Given the description of an element on the screen output the (x, y) to click on. 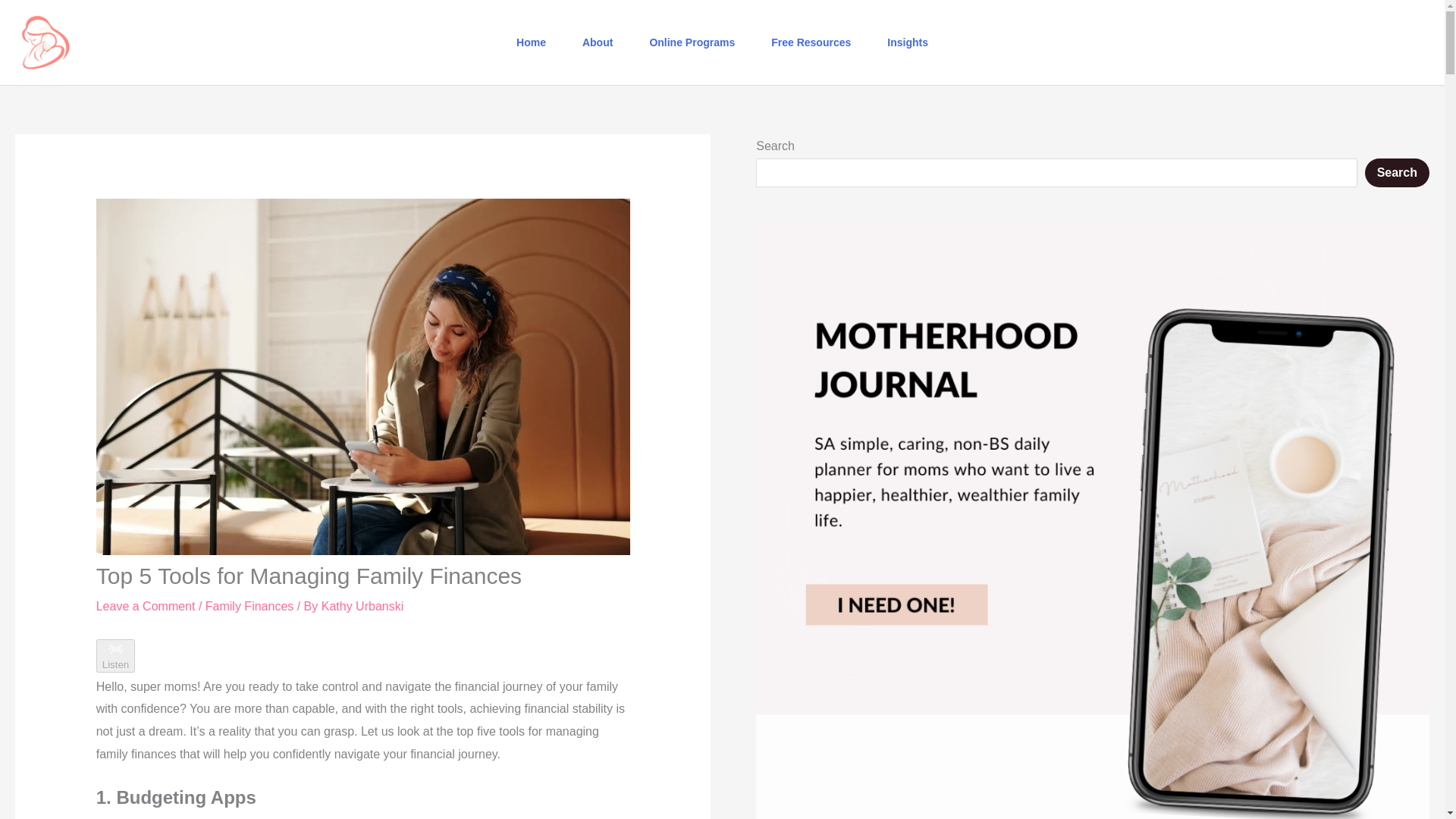
Kathy Urbanski (362, 605)
Insights (907, 42)
About (597, 42)
Home (530, 42)
Family Finances (249, 605)
Leave a Comment (145, 605)
Free Resources (810, 42)
View all posts by Kathy Urbanski (362, 605)
Online Programs (691, 42)
